Given the description of an element on the screen output the (x, y) to click on. 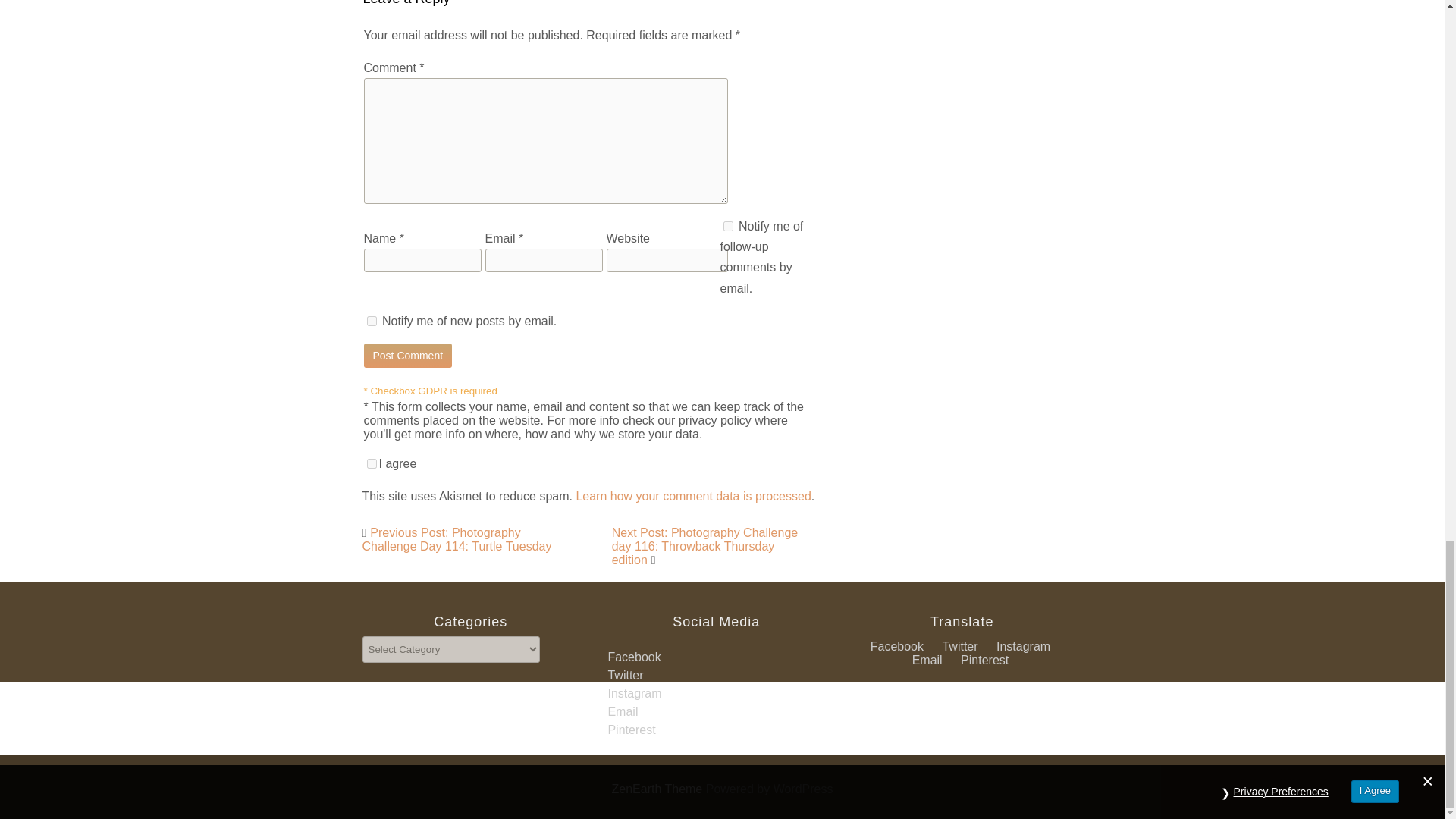
subscribe (371, 320)
ZenEarth Theme (657, 788)
on (371, 463)
subscribe (728, 225)
Post Comment (408, 355)
